Given the description of an element on the screen output the (x, y) to click on. 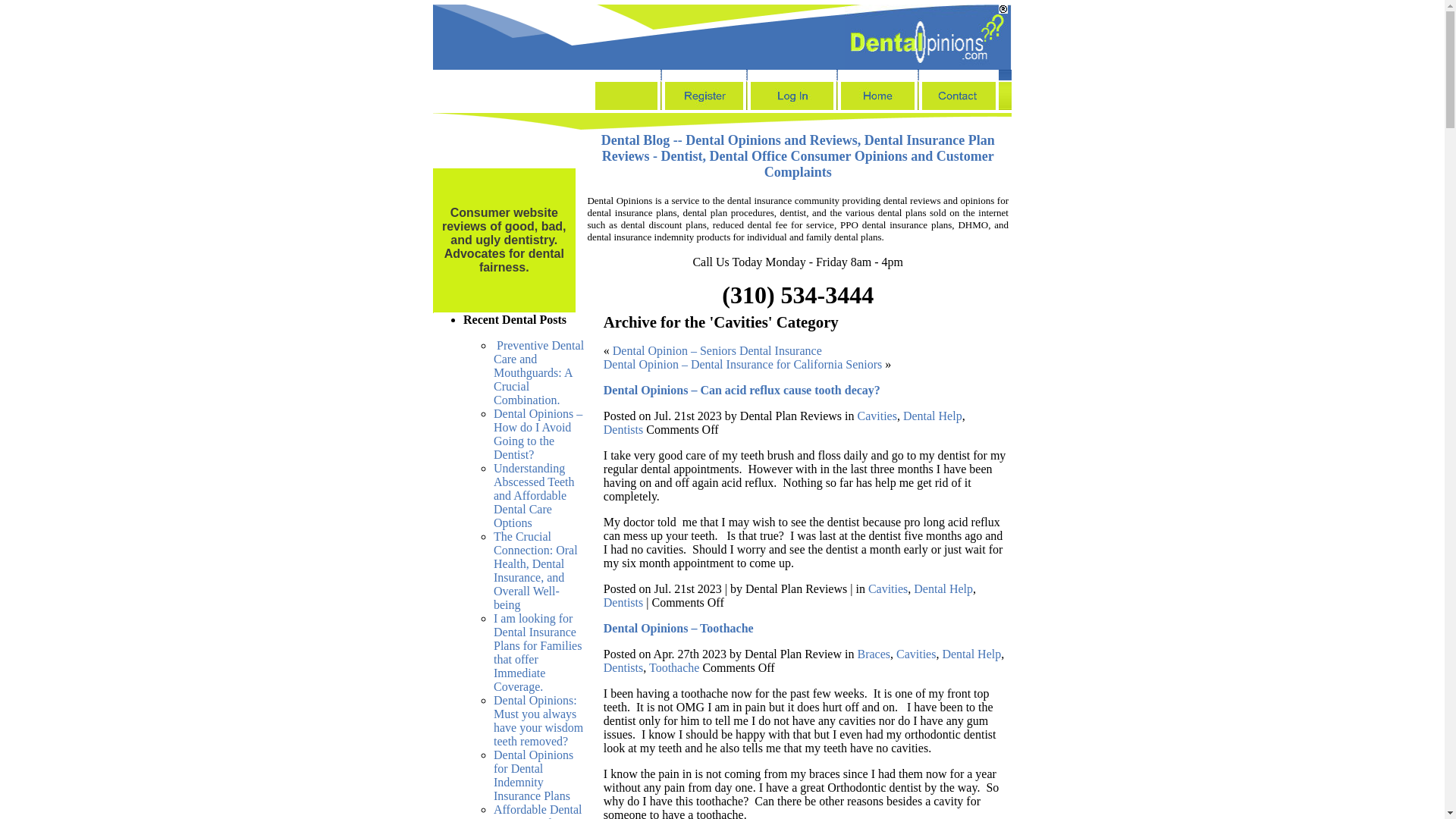
Dental Opinions for Dental Indemnity Insurance Plans (533, 775)
